Given the description of an element on the screen output the (x, y) to click on. 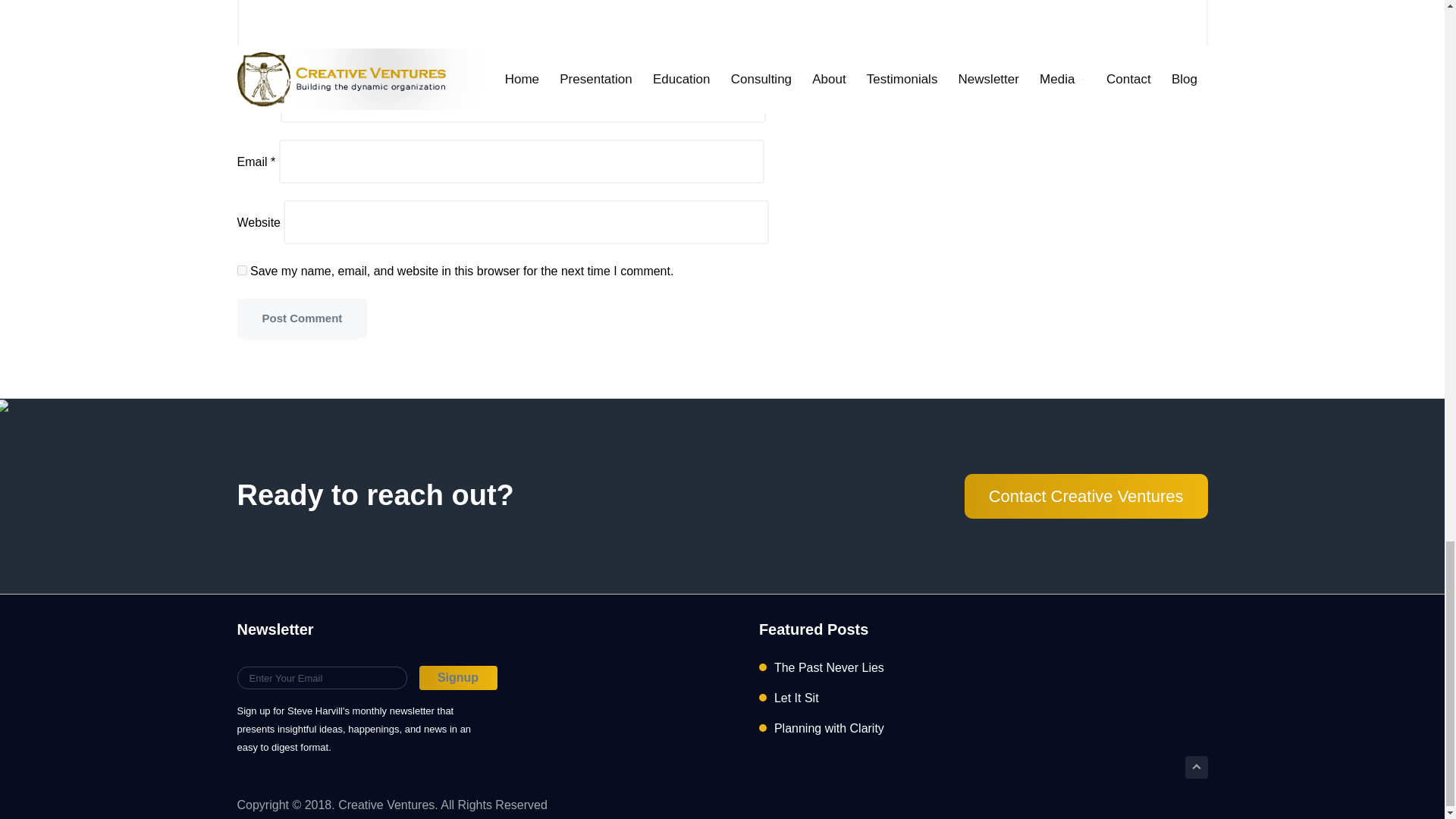
Post Comment (300, 317)
Contact Creative Ventures (1085, 496)
Post Comment (300, 317)
The Past Never Lies (828, 667)
Let It Sit (796, 697)
Signup (457, 677)
Planning with Clarity (828, 727)
yes (240, 270)
Signup (457, 677)
